Given the description of an element on the screen output the (x, y) to click on. 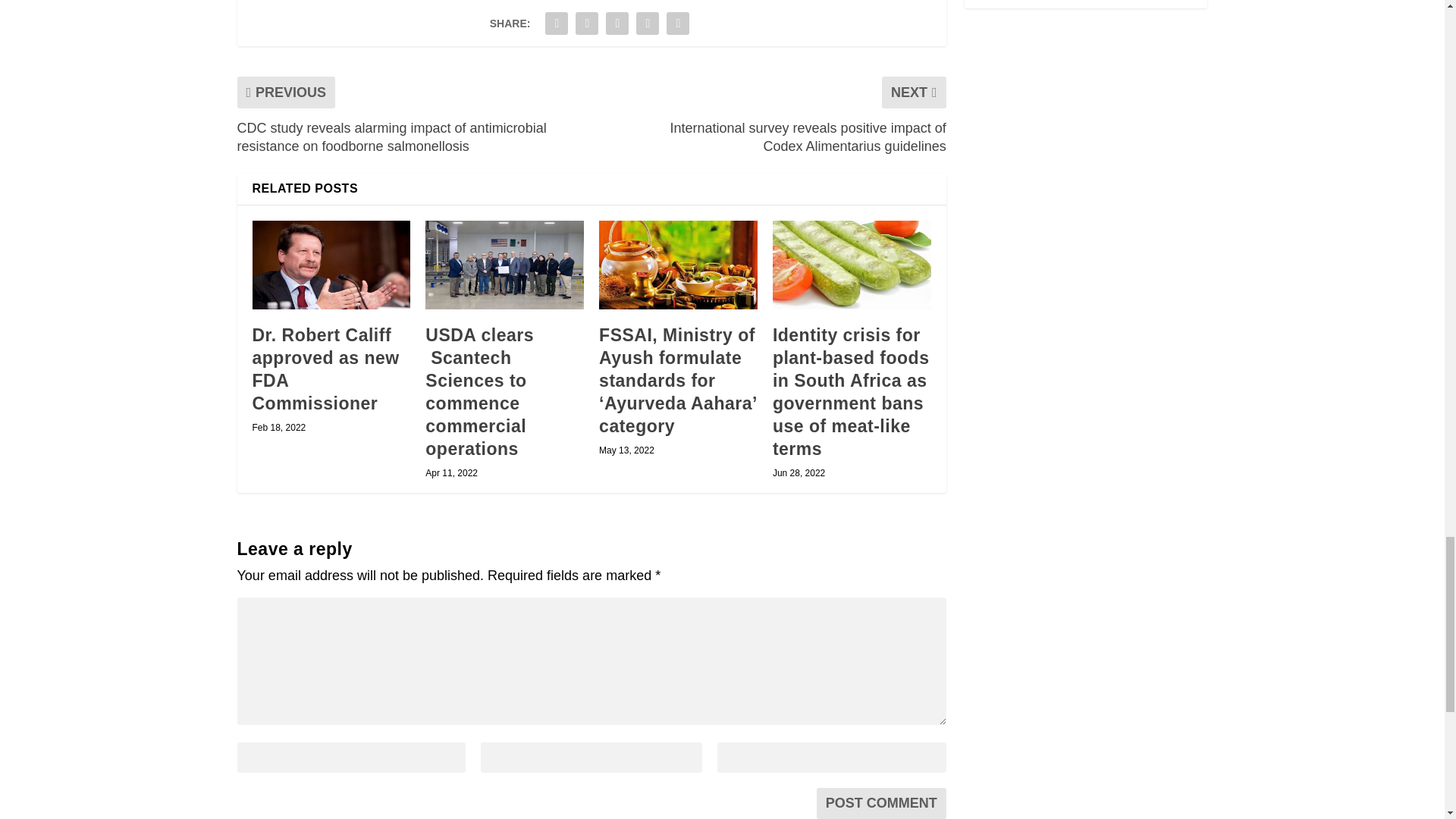
Post Comment (881, 803)
Dr. Robert Califf approved as new FDA Commissioner (330, 264)
